Given the description of an element on the screen output the (x, y) to click on. 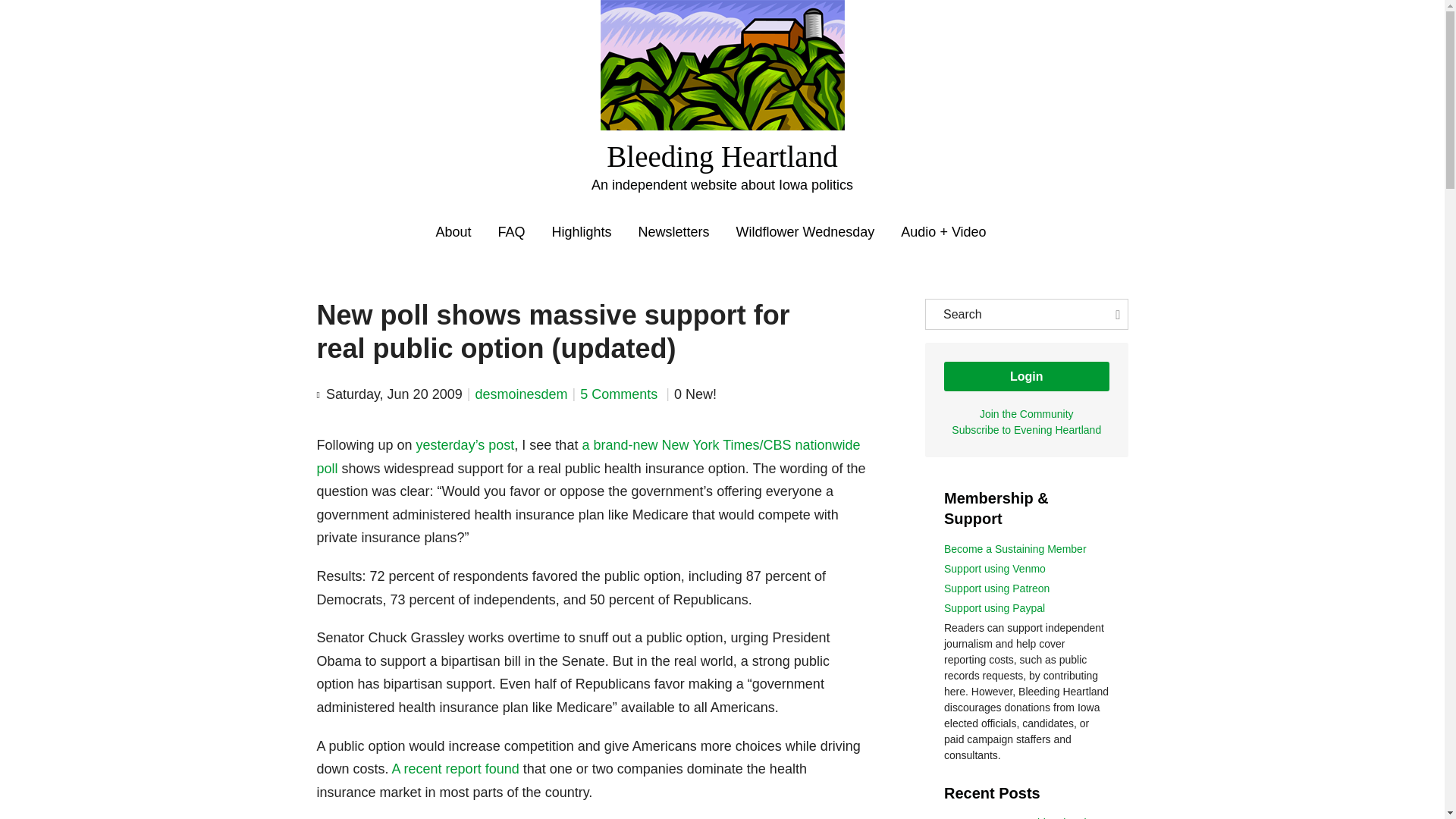
comments (620, 394)
FAQ (510, 231)
About (452, 231)
Newsletters (674, 231)
desmoinesdem (520, 394)
Highlights (581, 231)
Posts by desmoinesdem (520, 394)
5 Comments (620, 394)
Wildflower Wednesday (805, 231)
